Given the description of an element on the screen output the (x, y) to click on. 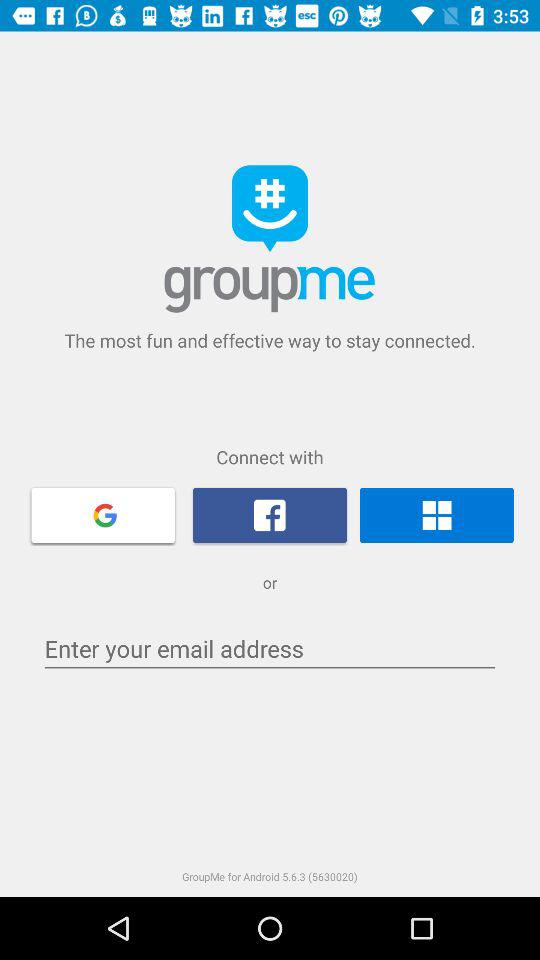
connect with windows (436, 515)
